Given the description of an element on the screen output the (x, y) to click on. 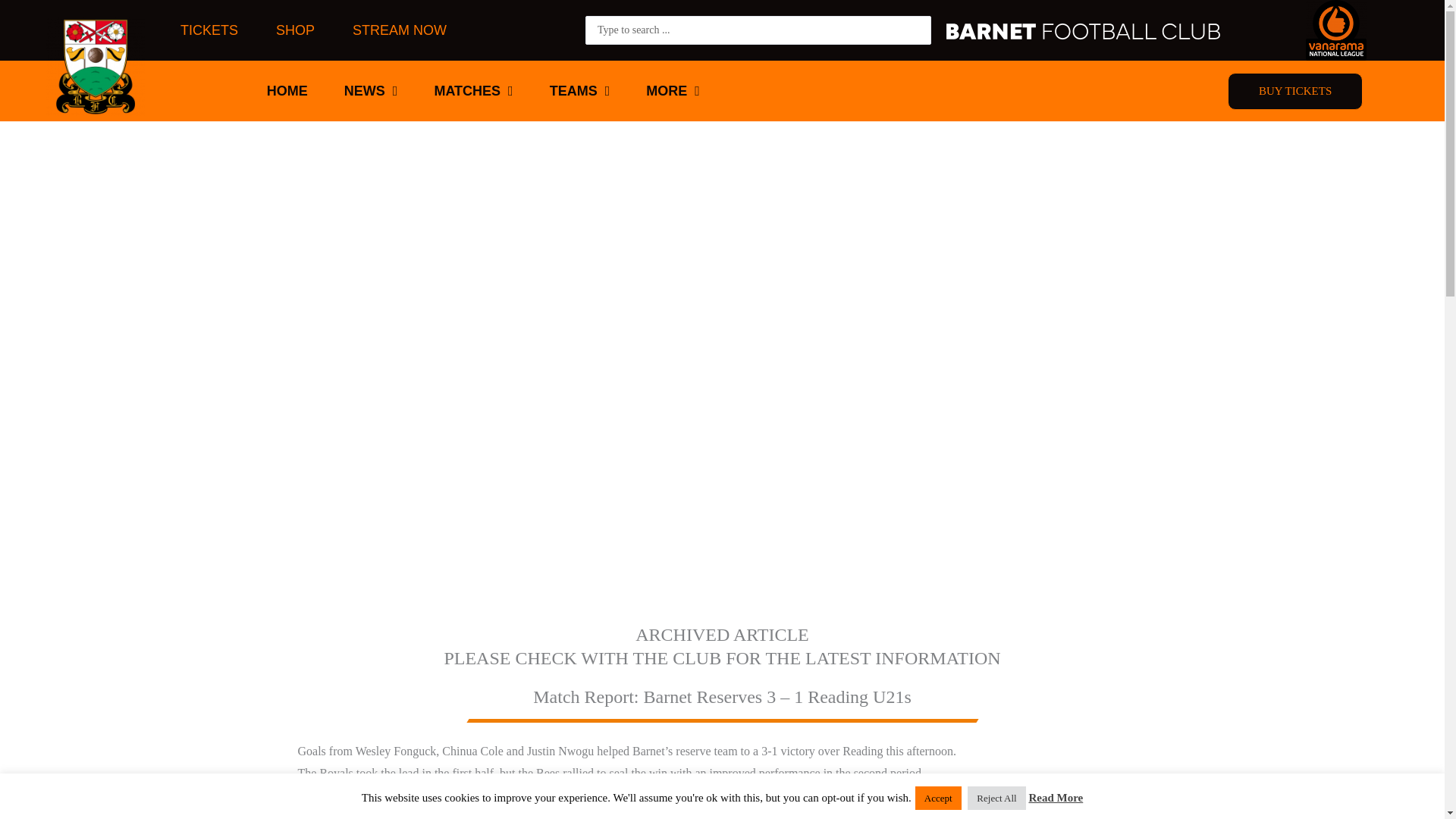
TICKETS (209, 30)
TEAMS (580, 90)
HOME (287, 90)
MORE (672, 90)
MATCHES (473, 90)
STREAM NOW (399, 30)
NEWS (371, 90)
SHOP (295, 30)
